Given the description of an element on the screen output the (x, y) to click on. 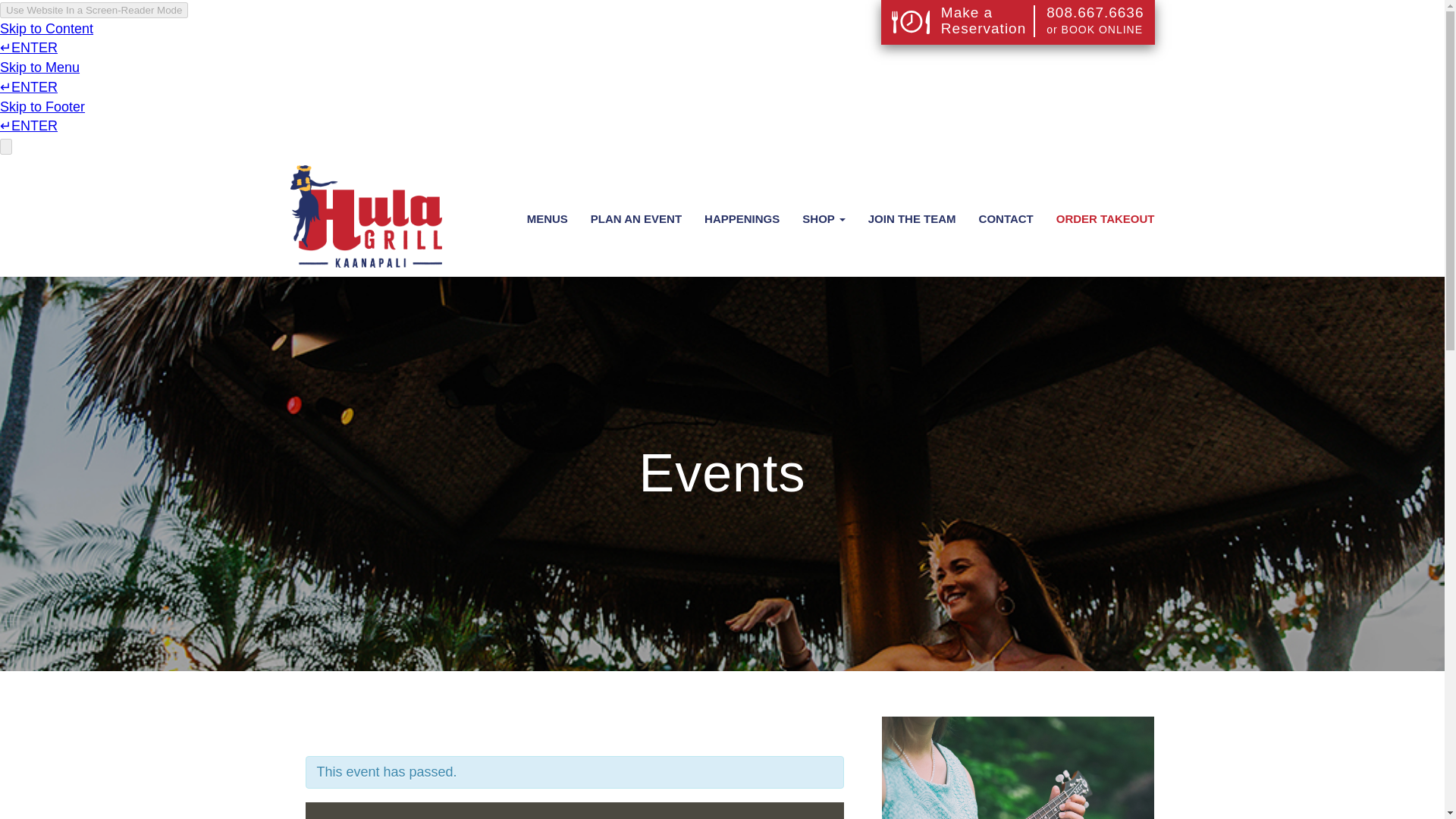
CONTACT (1006, 218)
PLAN AN EVENT (636, 218)
Join The Team (912, 218)
Menus (547, 218)
ORDER TAKEOUT (1105, 218)
Contact (1006, 218)
MENUS (547, 218)
SHOP (823, 218)
Happenings (741, 218)
